Given the description of an element on the screen output the (x, y) to click on. 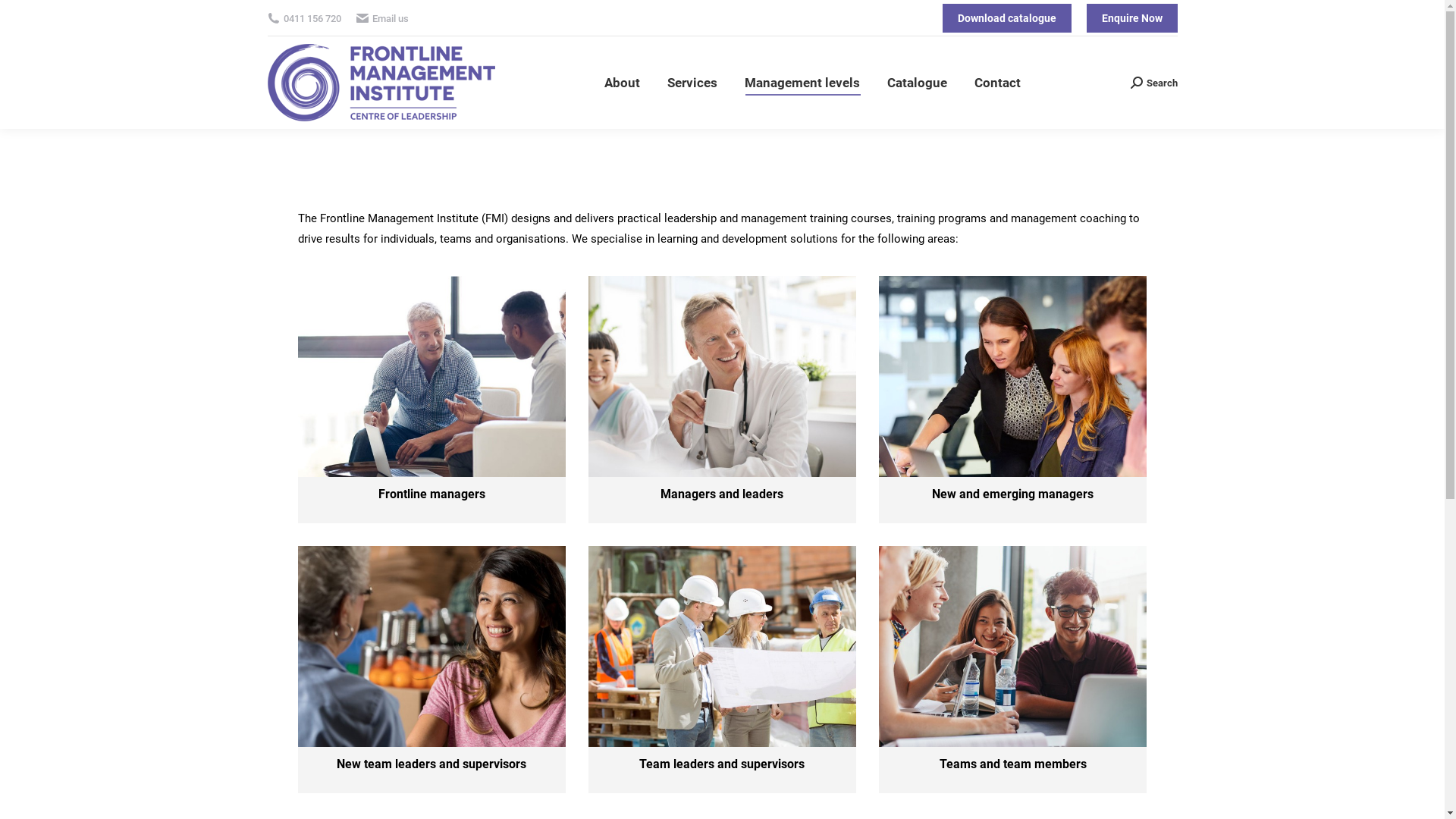
Managers and leaders Element type: text (721, 493)
Go! Element type: text (23, 16)
Managers and leaders Element type: hover (722, 376)
Download catalogue Element type: text (1005, 17)
Teams and team members Element type: text (1012, 763)
Search Element type: text (1152, 81)
Management levels Element type: text (801, 82)
New and emerging managers Element type: hover (1012, 376)
New and emerging managers Element type: text (1012, 493)
Services Element type: text (692, 82)
New team leaders and supervisors Element type: hover (430, 646)
Team leaders and supervisors Element type: hover (722, 646)
Enquire Now Element type: text (1130, 17)
Frontline managers Element type: hover (430, 376)
Catalogue Element type: text (917, 82)
Email us Element type: text (389, 17)
About Element type: text (622, 82)
Contact Element type: text (997, 82)
New team leaders and supervisors Element type: text (431, 763)
Teams and team members Element type: hover (1012, 646)
Team leaders and supervisors Element type: text (721, 763)
Frontline managers Element type: text (431, 493)
